Given the description of an element on the screen output the (x, y) to click on. 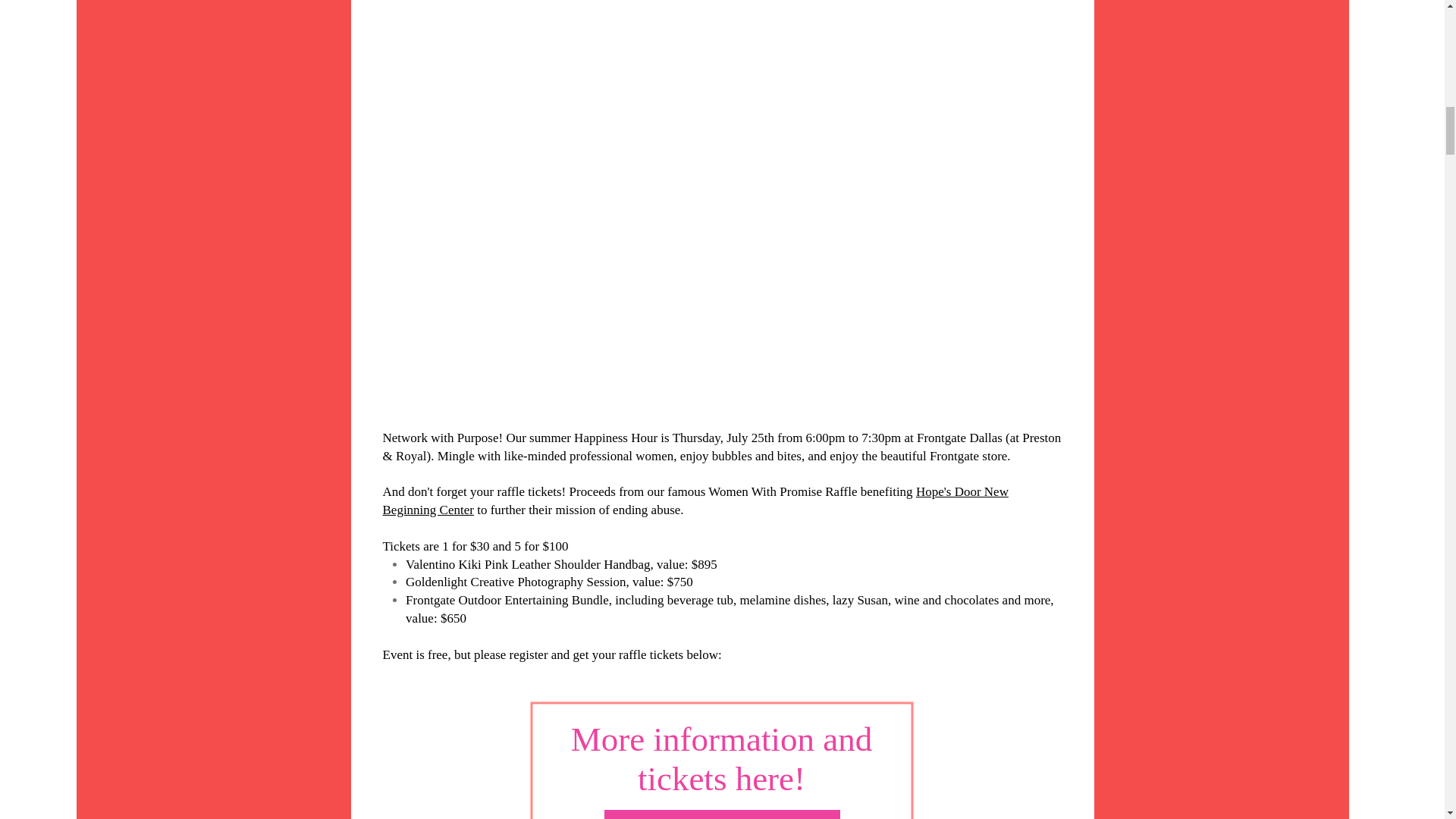
Hope's Door New Beginning Center (694, 500)
Get Event Tickets Now (722, 814)
